Given the description of an element on the screen output the (x, y) to click on. 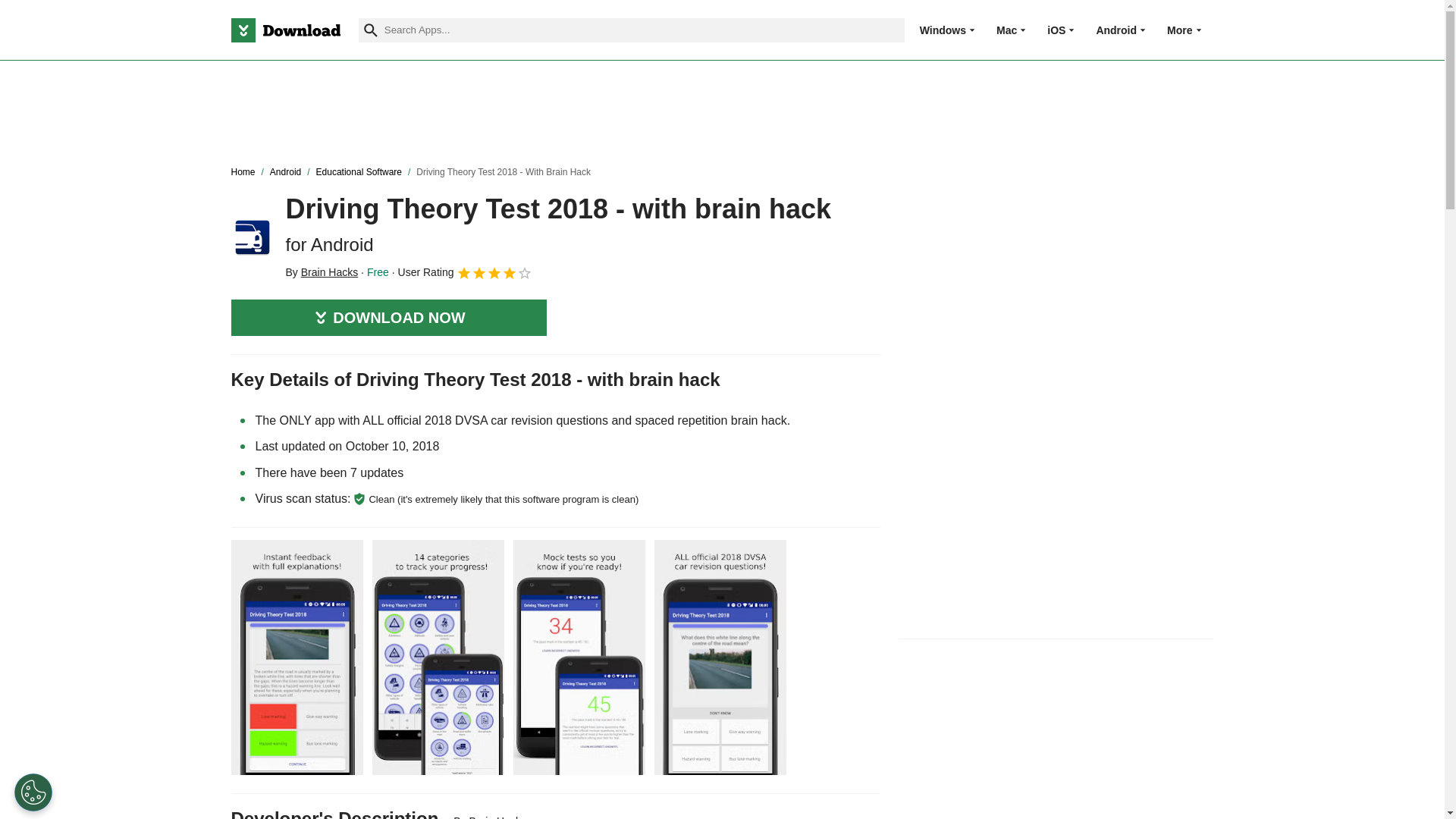
Windows (943, 29)
Mac (1005, 29)
Driving Theory Test 2018 - with brain hack for Android (251, 237)
